Given the description of an element on the screen output the (x, y) to click on. 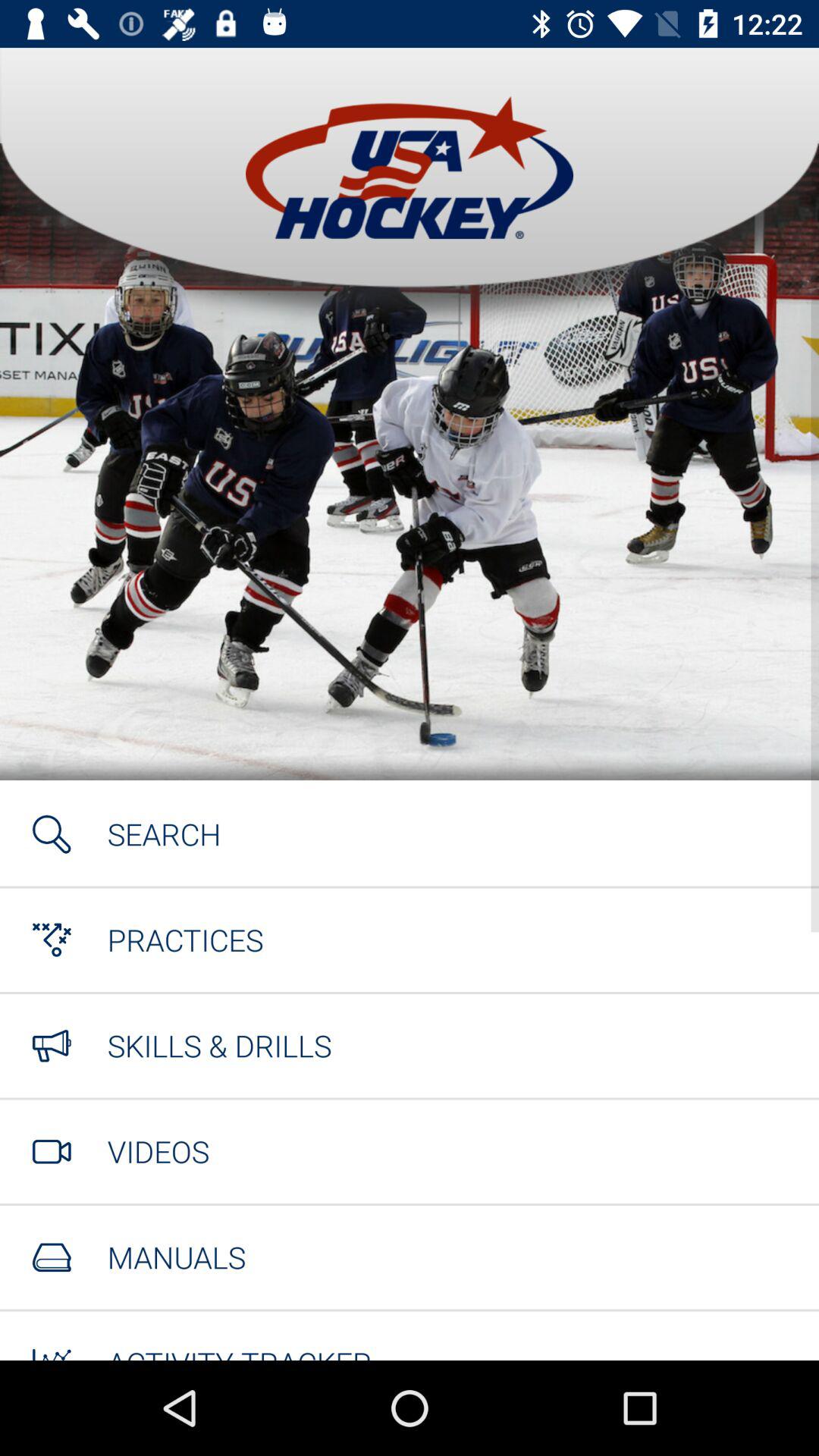
press the item above manuals item (158, 1151)
